Given the description of an element on the screen output the (x, y) to click on. 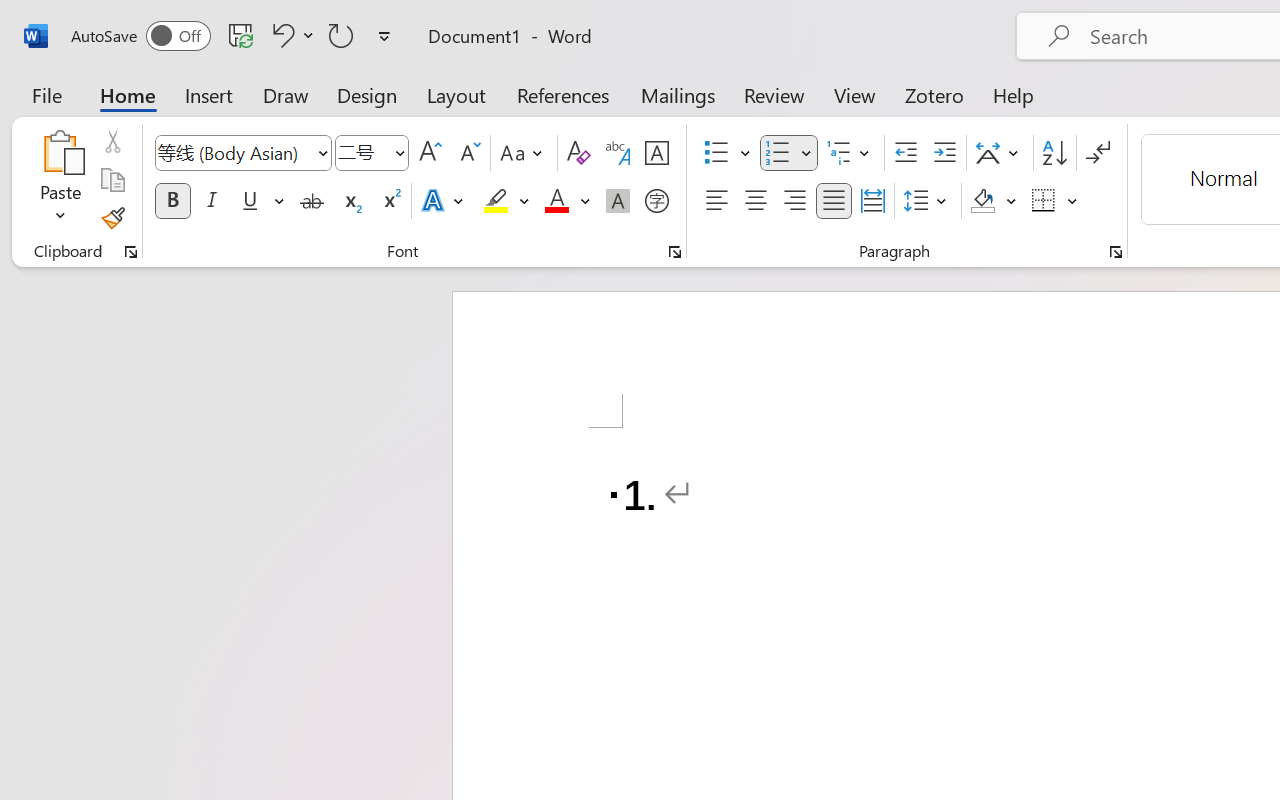
Undo Number Default (280, 35)
